Given the description of an element on the screen output the (x, y) to click on. 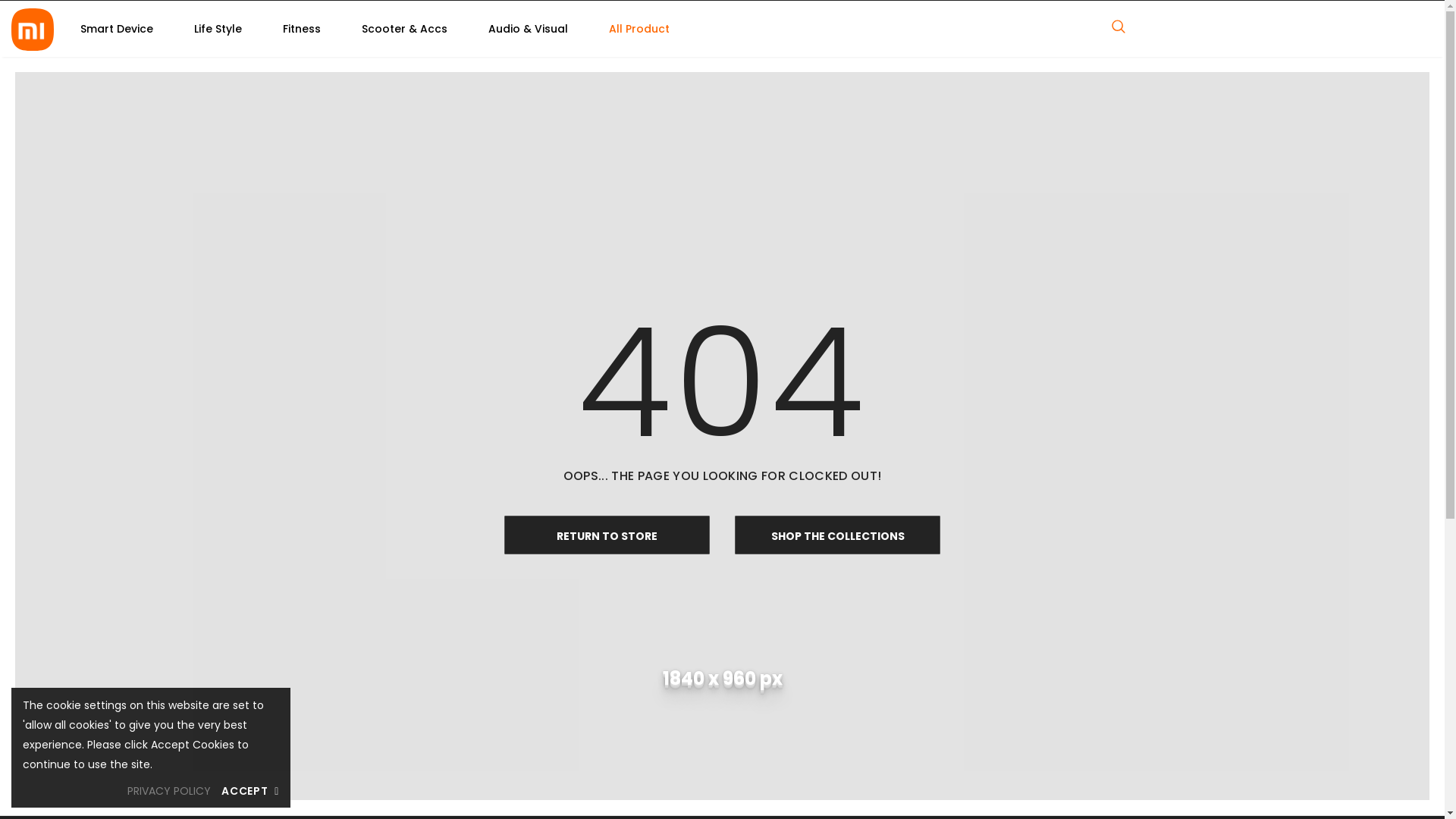
Smart Device Element type: text (116, 28)
Life Style Element type: text (217, 28)
Scooter & Accs Element type: text (404, 28)
Logo Element type: hover (32, 29)
All Product Element type: text (638, 28)
Fitness Element type: text (301, 28)
RETURN TO STORE Element type: text (607, 534)
Audio & Visual Element type: text (527, 28)
PRIVACY POLICY Element type: text (168, 790)
SHOP THE COLLECTIONS Element type: text (837, 534)
